Given the description of an element on the screen output the (x, y) to click on. 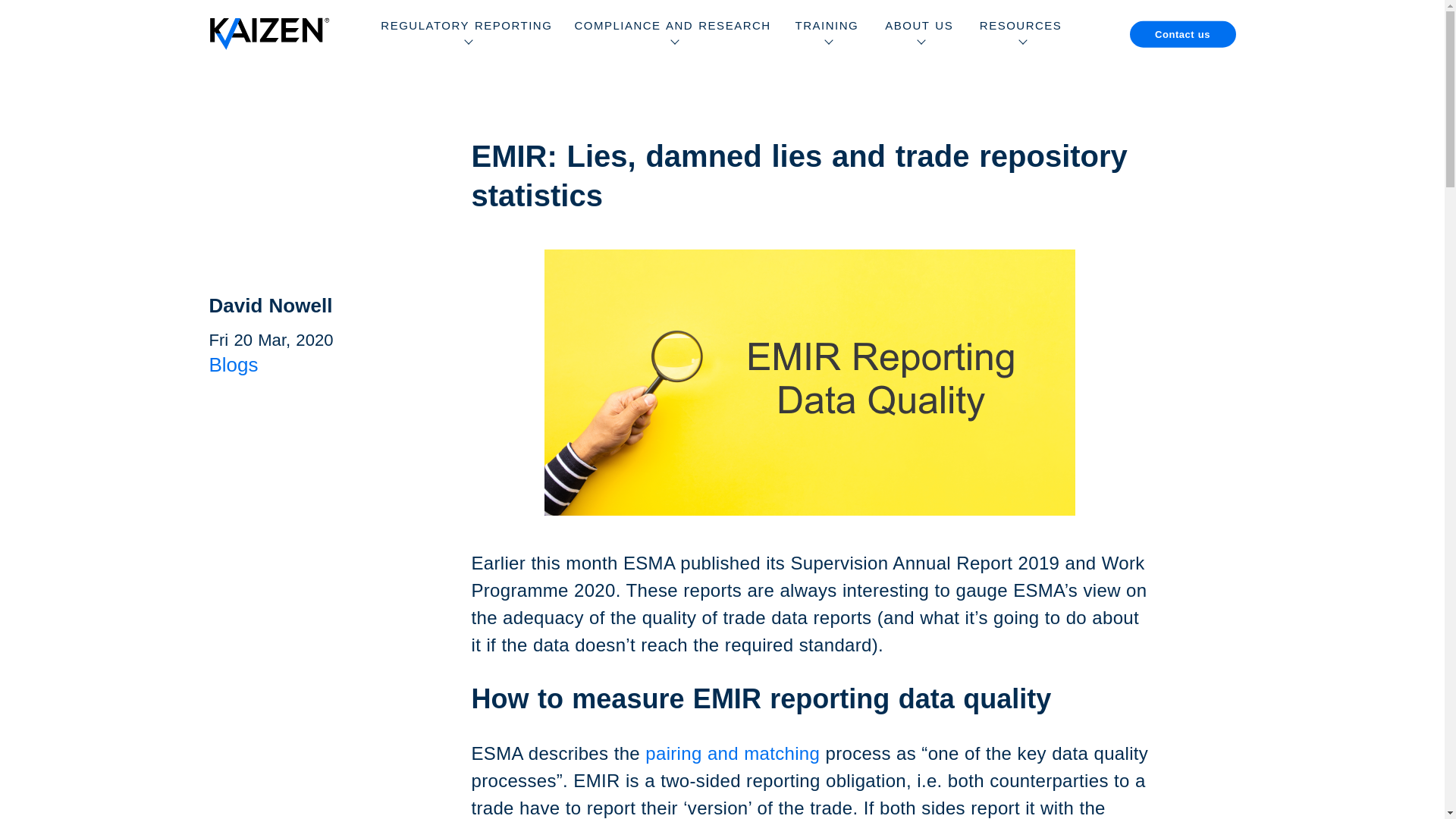
REGULATORY REPORTING (465, 33)
TRAINING (826, 33)
ABOUT US (919, 33)
COMPLIANCE AND RESEARCH (672, 33)
